Given the description of an element on the screen output the (x, y) to click on. 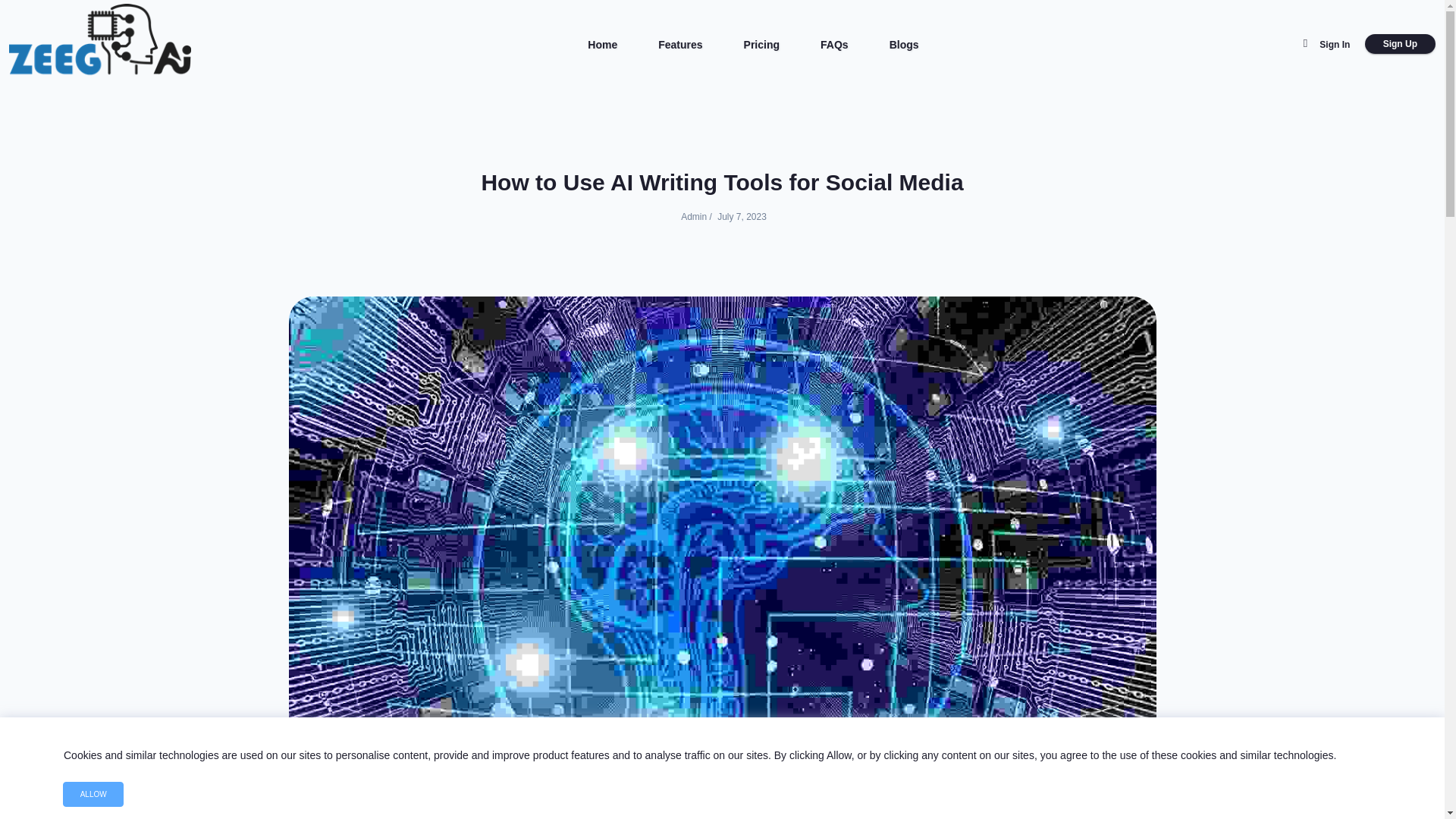
Pricing (761, 44)
Blogs (903, 44)
Sign In (1334, 44)
FAQs (834, 44)
FAQs (834, 44)
Pricing (761, 44)
ALLOW (92, 794)
Sign Up (1400, 44)
Features (679, 44)
Blogs (903, 44)
